Given the description of an element on the screen output the (x, y) to click on. 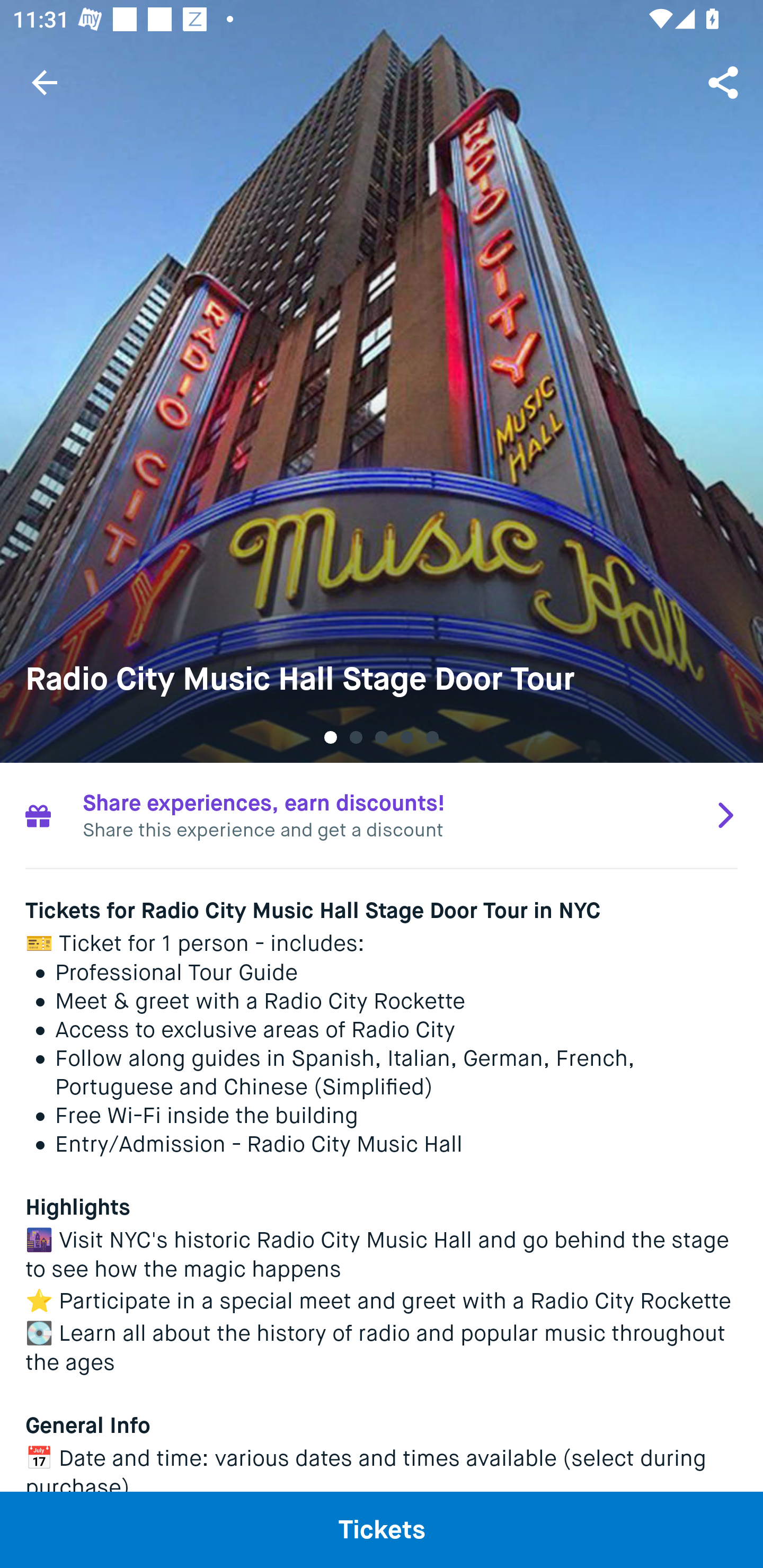
Navigate up (44, 82)
Share (724, 81)
Tickets (381, 1529)
